Given the description of an element on the screen output the (x, y) to click on. 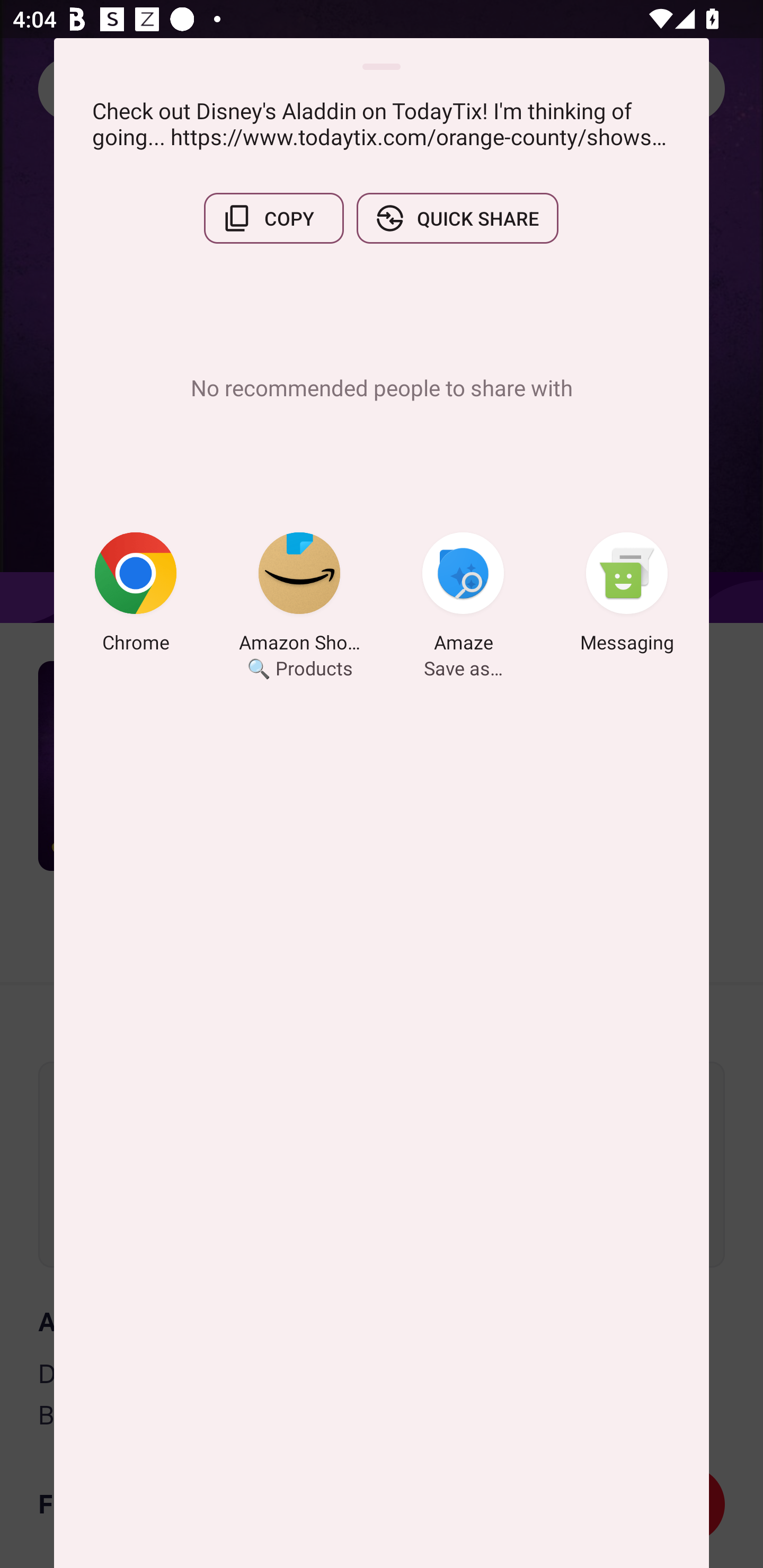
COPY (273, 218)
QUICK SHARE (457, 218)
Chrome (135, 594)
Amazon Shopping 🔍 Products (299, 594)
Amaze Save as… (463, 594)
Messaging (626, 594)
